Given the description of an element on the screen output the (x, y) to click on. 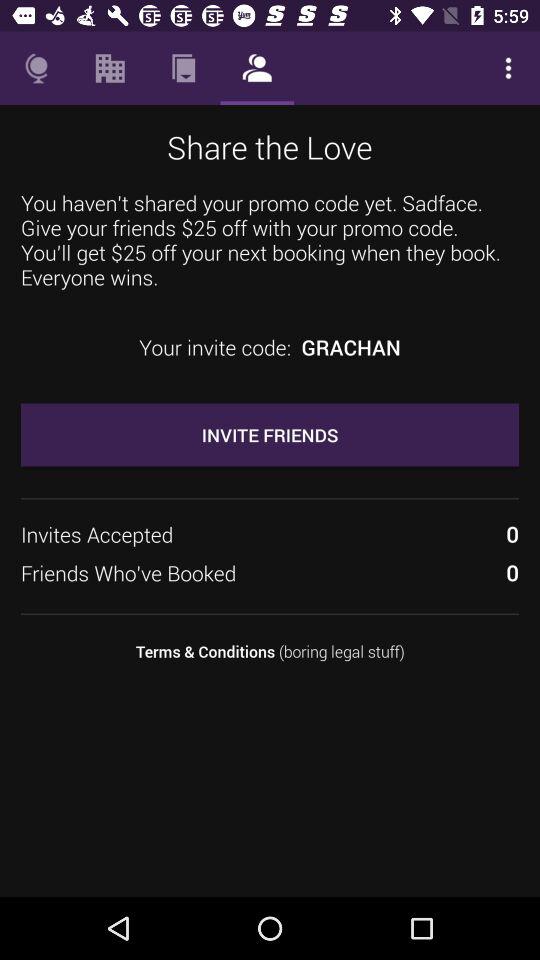
turn off the item above you haven t (508, 67)
